Given the description of an element on the screen output the (x, y) to click on. 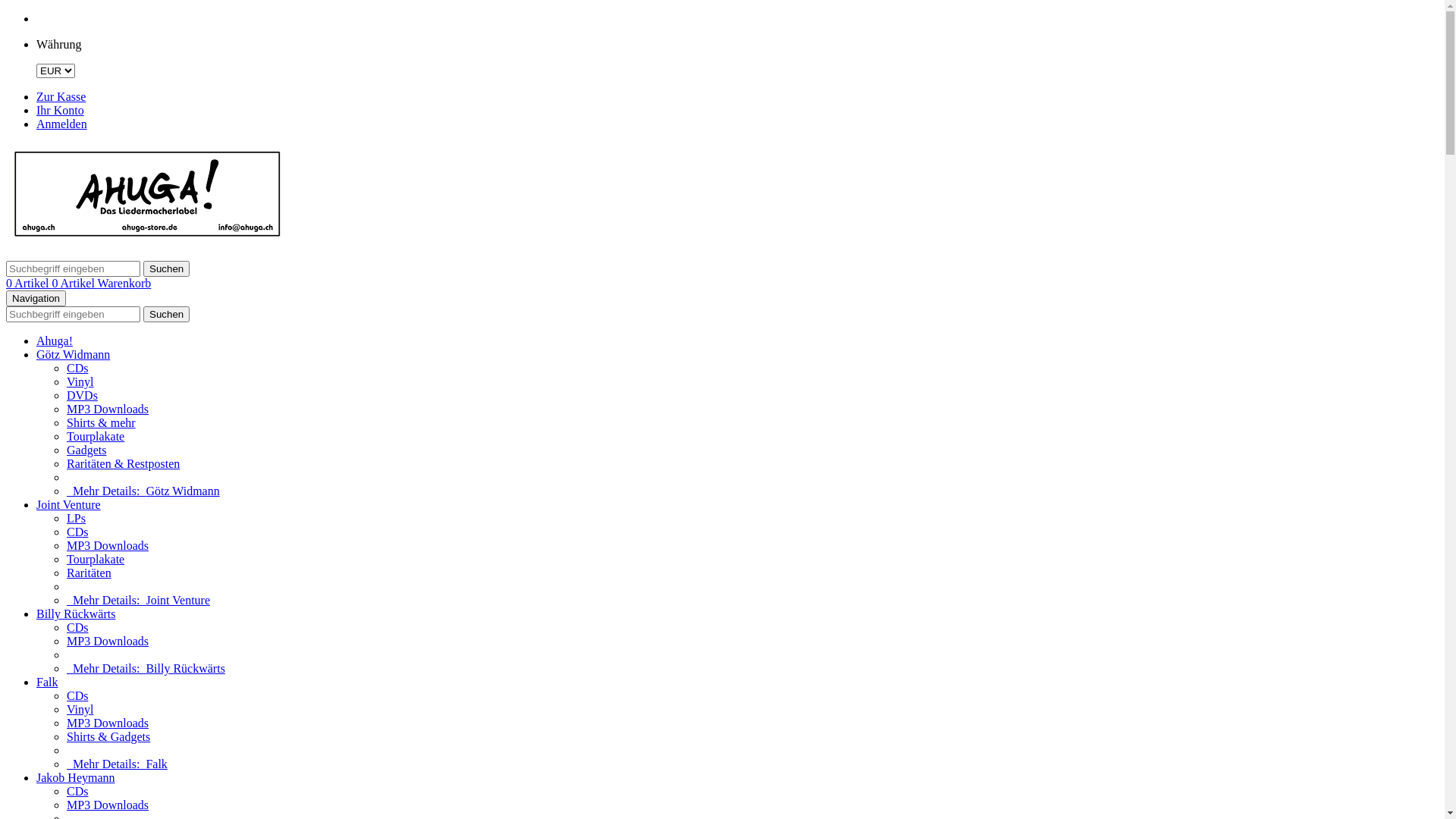
  Mehr Details:  Falk Element type: text (116, 763)
Joint Venture Element type: text (68, 504)
0 Artikel Element type: text (74, 282)
Ihr Konto Element type: text (60, 109)
0 Artikel Element type: text (28, 282)
  Mehr Details:  Joint Venture Element type: text (138, 599)
LPs Element type: text (75, 517)
MP3 Downloads Element type: text (107, 640)
Suchen Element type: text (166, 314)
Gadgets Element type: text (86, 449)
CDs Element type: text (76, 695)
Anmelden Element type: text (61, 123)
Tourplakate Element type: text (95, 558)
Suchen Element type: text (166, 268)
Shirts & mehr Element type: text (100, 422)
Vinyl Element type: text (79, 381)
MP3 Downloads Element type: text (107, 545)
Vinyl Element type: text (79, 708)
CDs Element type: text (76, 790)
DVDs Element type: text (81, 395)
Falk Element type: text (46, 681)
Warenkorb Element type: text (124, 282)
MP3 Downloads Element type: text (107, 722)
MP3 Downloads Element type: text (107, 804)
Ahuga! Element type: text (54, 340)
Shirts & Gadgets Element type: text (108, 736)
CDs Element type: text (76, 627)
Tourplakate Element type: text (95, 435)
Ahuga! Store Element type: hover (147, 241)
Zur Kasse Element type: text (60, 96)
CDs Element type: text (76, 531)
Navigation Element type: text (35, 298)
CDs Element type: text (76, 367)
MP3 Downloads Element type: text (107, 408)
Jakob Heymann Element type: text (75, 777)
